Given the description of an element on the screen output the (x, y) to click on. 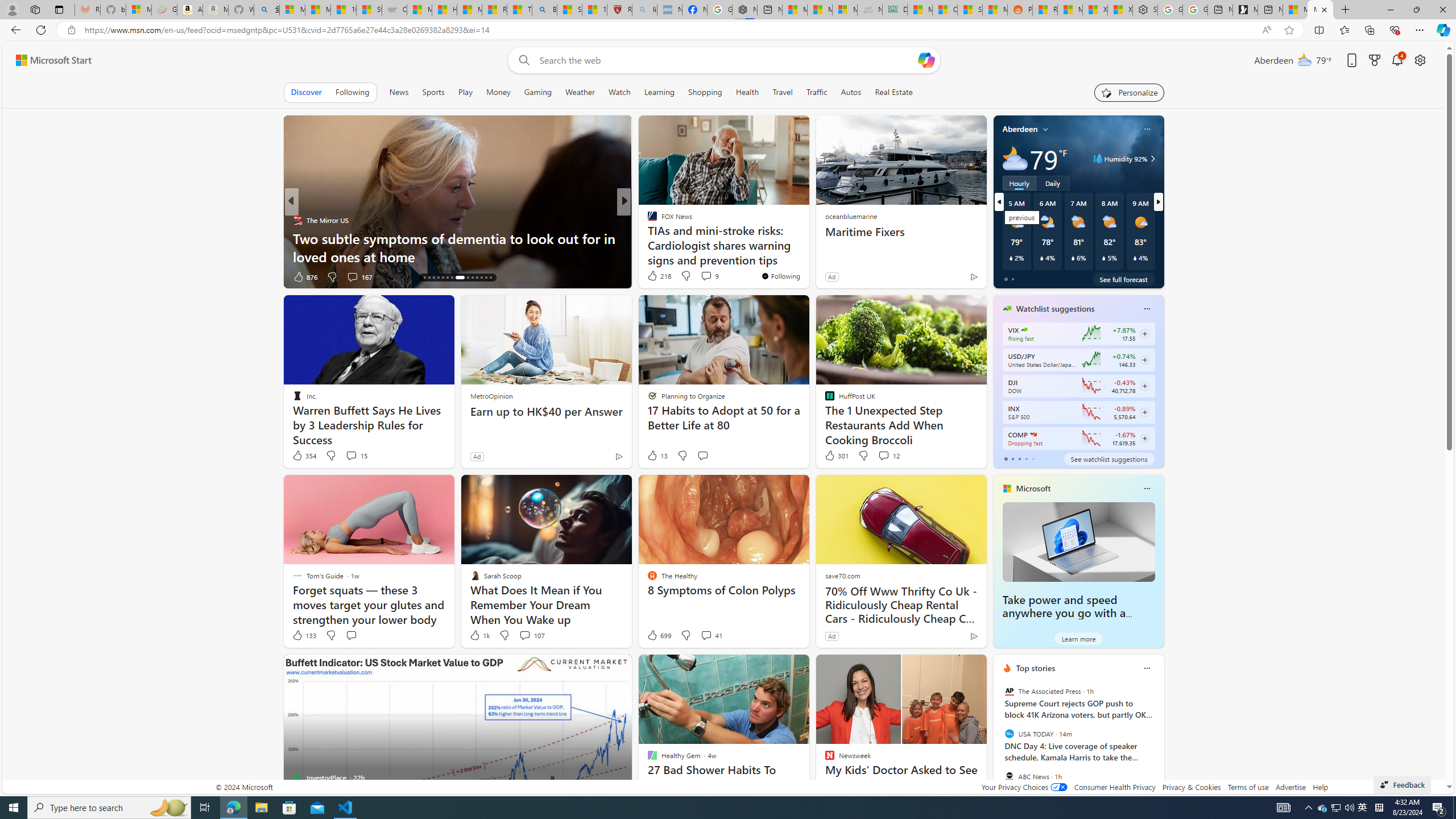
Class: icon-img (1146, 668)
Humidity 92% (1150, 158)
AutomationID: tab-24 (472, 277)
View comments 34 Comment (6, 276)
View comments 107 Comment (523, 635)
Privacy & Cookies (1191, 786)
